Given the description of an element on the screen output the (x, y) to click on. 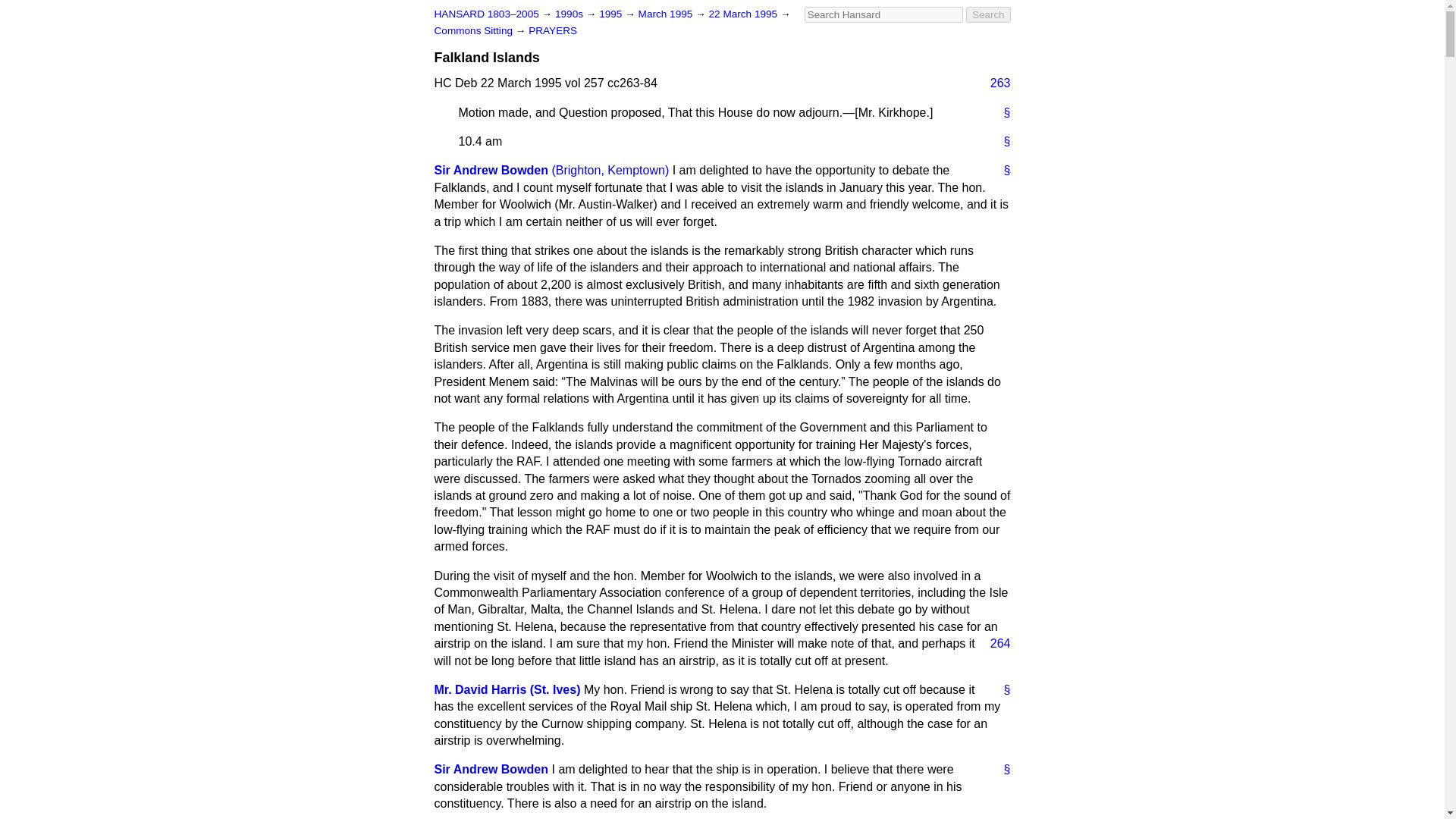
Access key: S (883, 14)
1990s (570, 13)
Sir Andrew Bowden (490, 768)
1995 (611, 13)
Link to this contribution (1000, 112)
Link to this speech by Mr David Harris (1000, 689)
PRAYERS (552, 30)
Commons Sitting (474, 30)
Mr David Harris (506, 689)
March 1995 (667, 13)
